Given the description of an element on the screen output the (x, y) to click on. 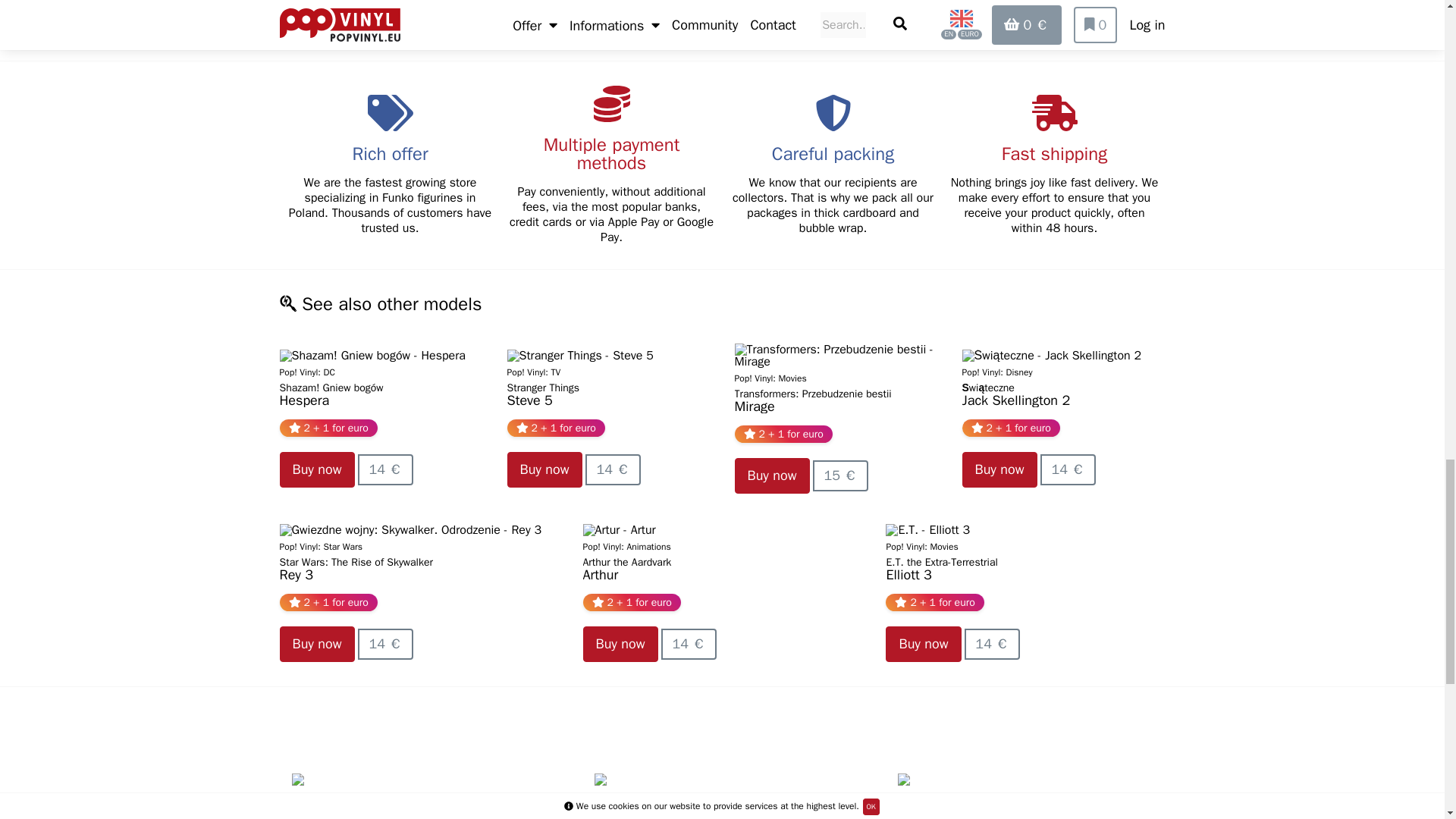
Buy now (543, 469)
Buy now (771, 475)
Instagram (494, 26)
Buy now (316, 469)
Facebook (322, 26)
Twitter (410, 26)
Buy now (998, 469)
